Given the description of an element on the screen output the (x, y) to click on. 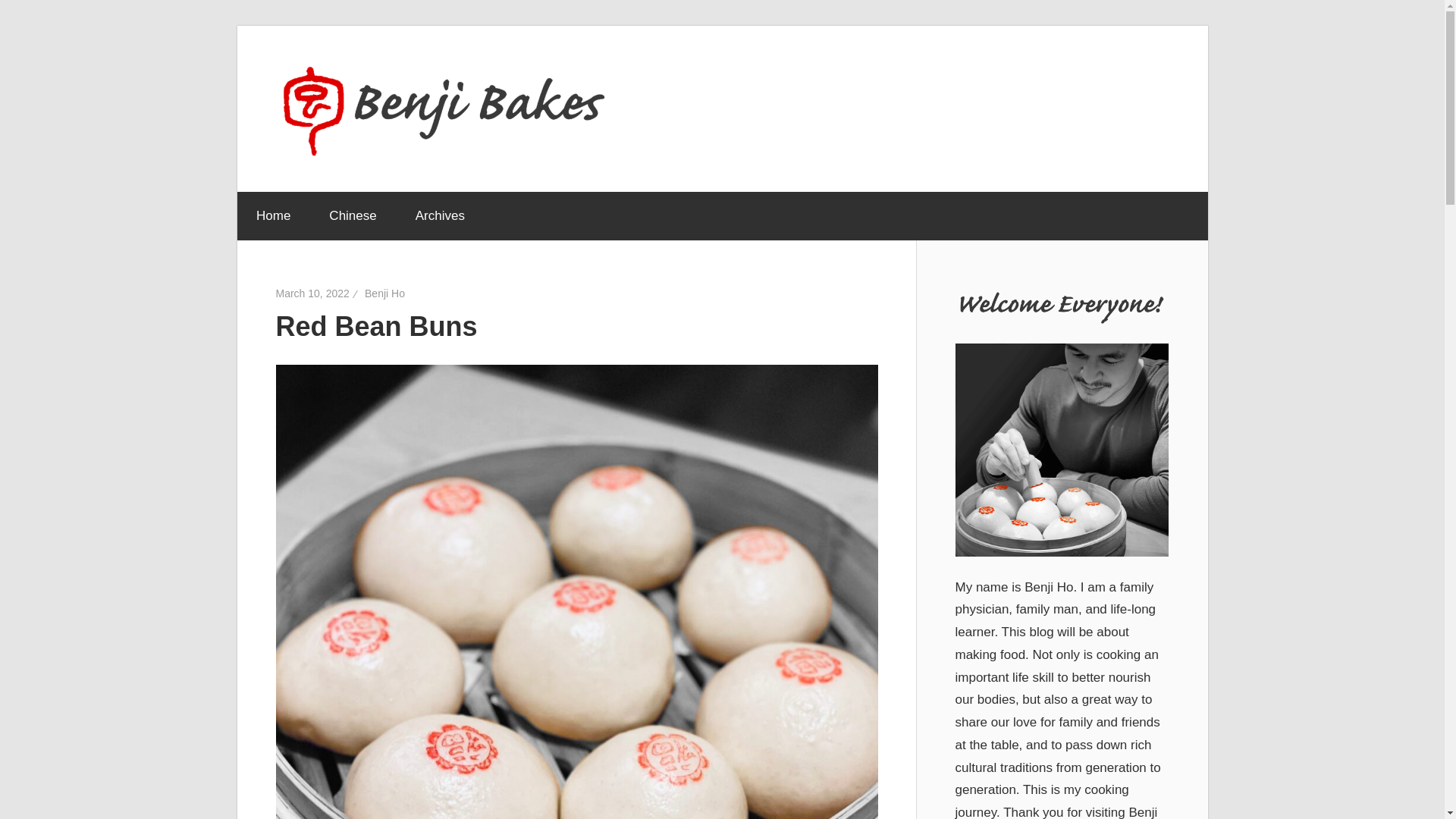
Home (271, 215)
Benji Ho (384, 293)
View all posts by Benji Ho (384, 293)
Chinese (353, 215)
March 10, 2022 (312, 293)
Archives (439, 215)
9:25 pm (312, 293)
